Given the description of an element on the screen output the (x, y) to click on. 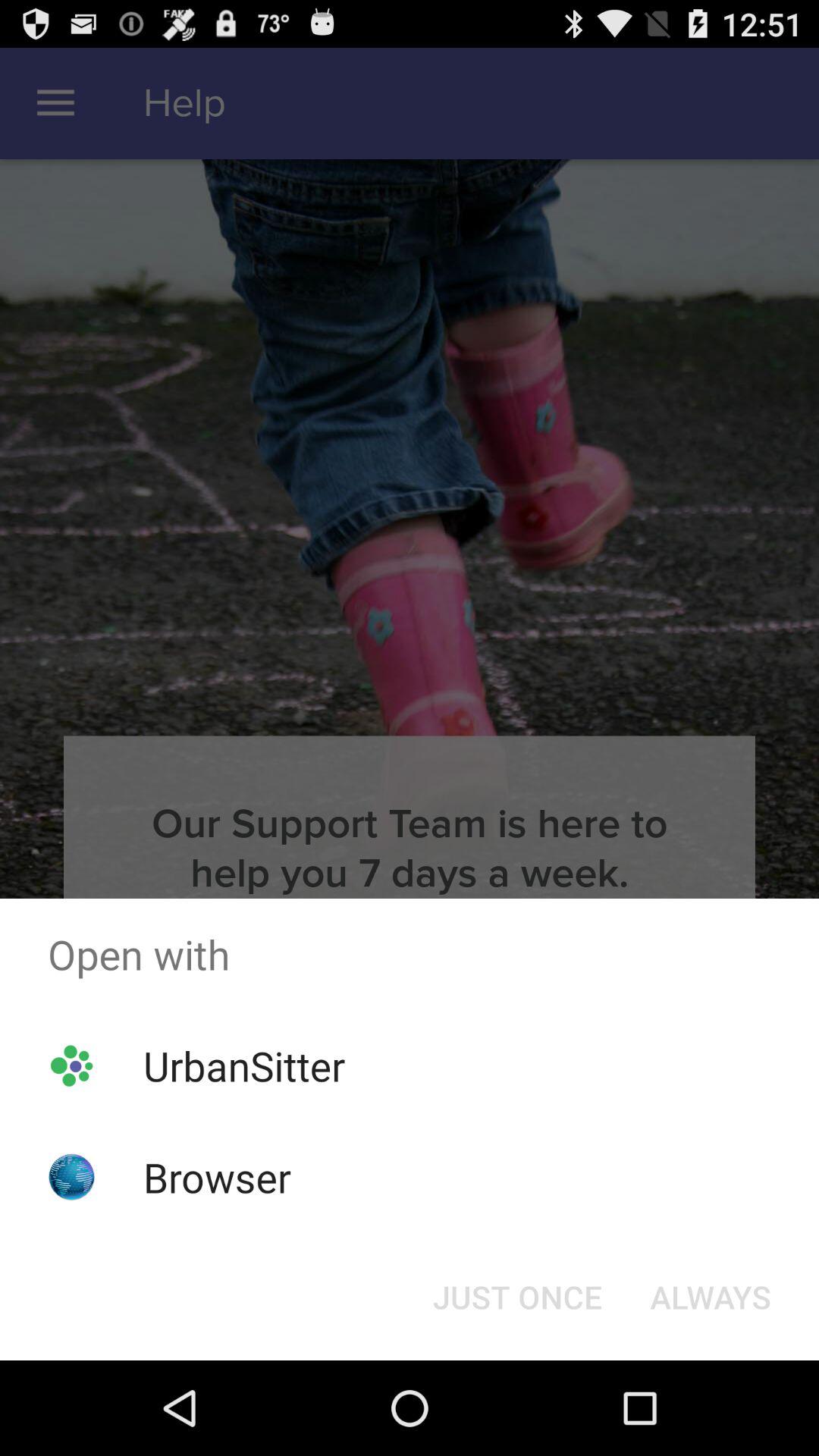
press always (710, 1296)
